Given the description of an element on the screen output the (x, y) to click on. 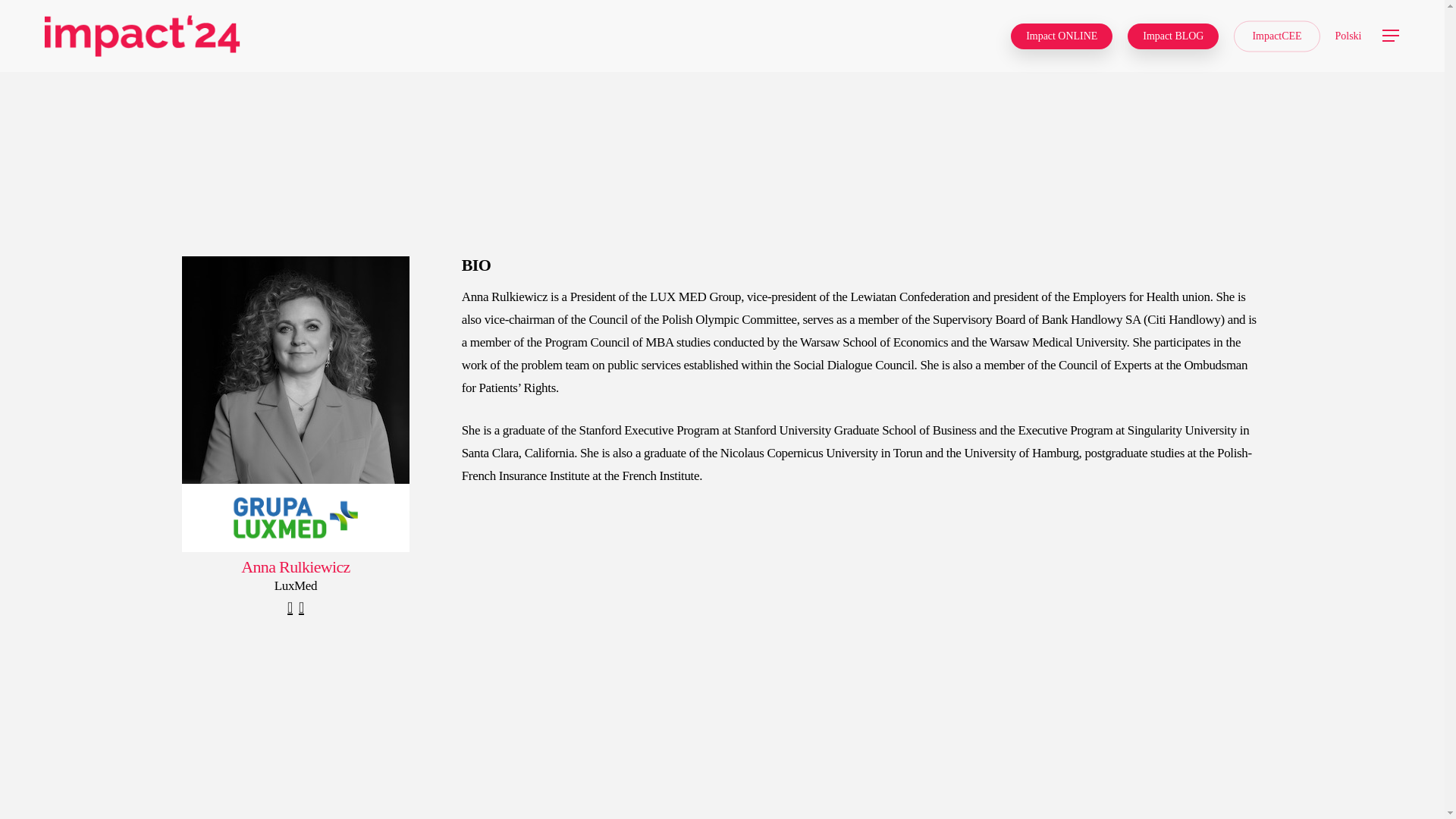
Anna Rulkiewicz (295, 370)
Impact ONLINE (1061, 35)
Menu (1390, 35)
Polski (1348, 35)
ImpactCEE (1276, 35)
Impact BLOG (1172, 35)
